Given the description of an element on the screen output the (x, y) to click on. 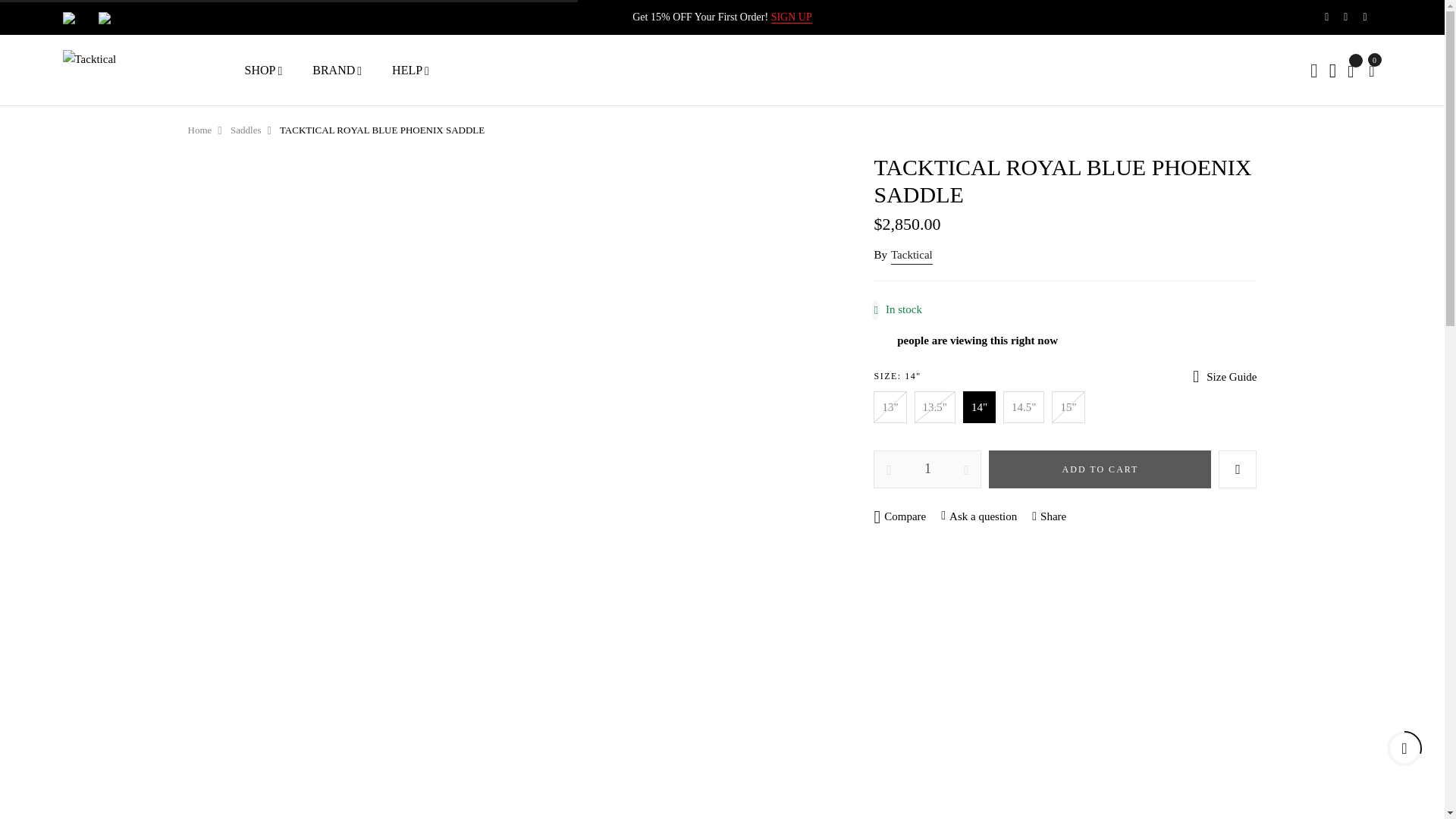
SIGN UP (791, 17)
Tacktical on YouTube (1364, 16)
Tacktical on Facebook (1325, 16)
1 (927, 469)
Saddles (245, 130)
Home (199, 130)
Tacktical on Instagram (1345, 16)
13" (889, 407)
